Given the description of an element on the screen output the (x, y) to click on. 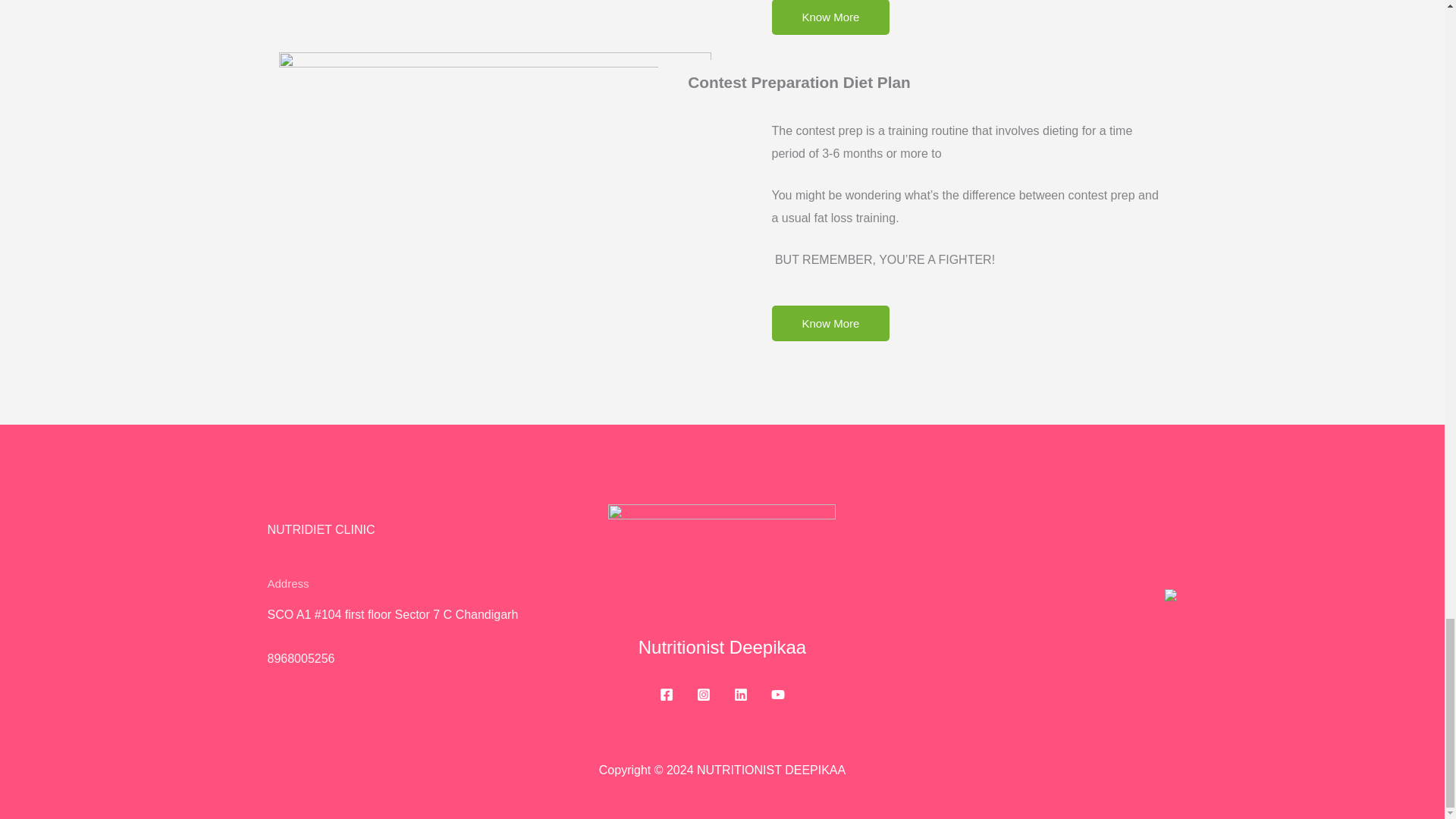
Know More (830, 323)
Know More (830, 17)
